Given the description of an element on the screen output the (x, y) to click on. 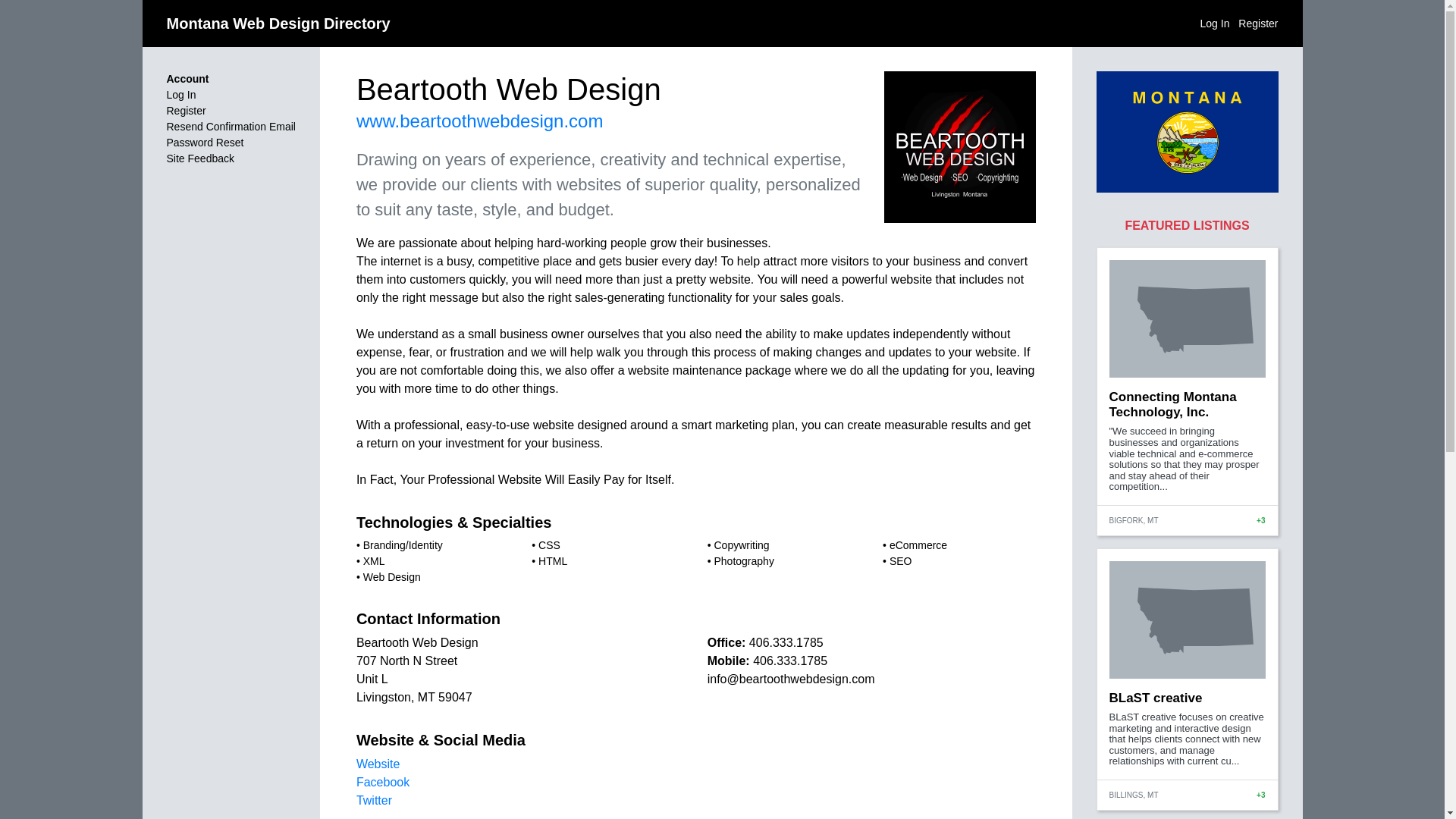
BLaST creative (1155, 698)
Photography (743, 561)
www.beartoothwebdesign.com (480, 120)
Copywriting (740, 544)
Connecting Montana Technology, Inc. (1172, 404)
XML (373, 561)
Log In (1214, 22)
406.333.1785 (786, 642)
Web Design (391, 576)
Facebook (382, 781)
